Given the description of an element on the screen output the (x, y) to click on. 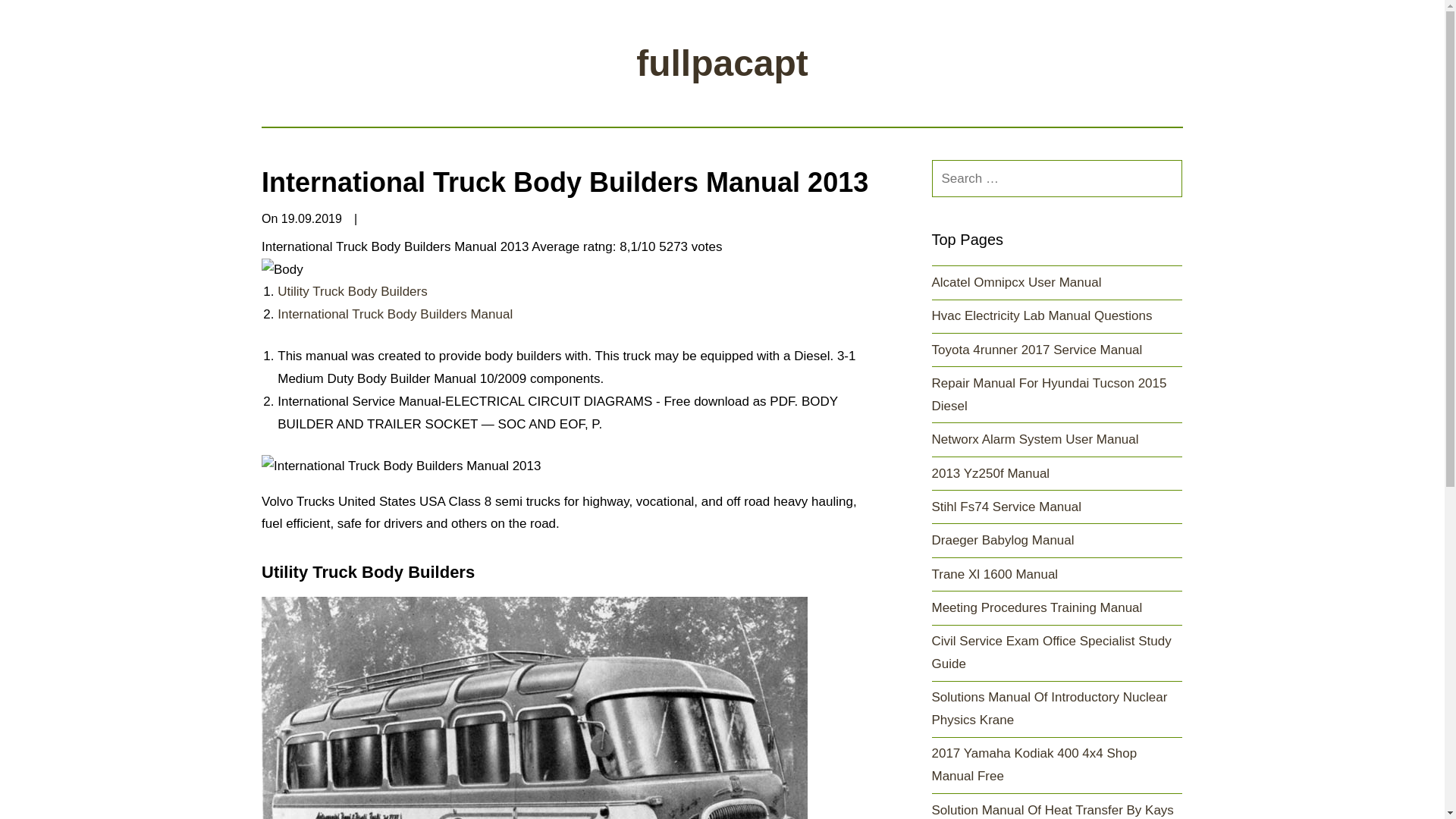
Draeger Babylog Manual (1002, 540)
2013 Yz250f Manual (990, 473)
Networx Alarm System User Manual (1034, 439)
International Truck Body Builders Manual (395, 314)
Search for: (1056, 178)
2013 (535, 708)
Solution Manual Of Heat Transfer By Kays (1052, 810)
Utility Truck Body Builders (352, 291)
Alcatel Omnipcx User Manual (1015, 282)
Toyota 4runner 2017 Service Manual (1036, 350)
